Given the description of an element on the screen output the (x, y) to click on. 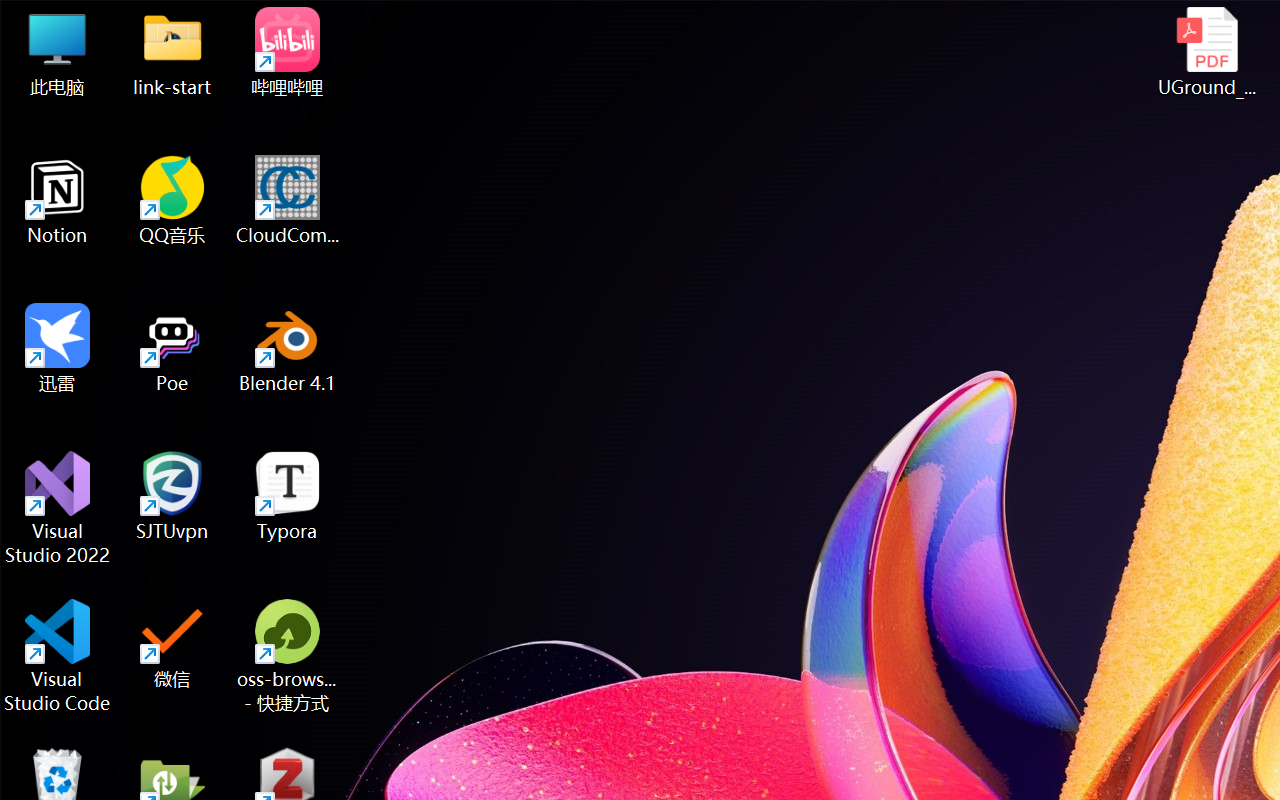
Typora (287, 496)
Blender 4.1 (287, 348)
Visual Studio 2022 (57, 508)
CloudCompare (287, 200)
SJTUvpn (172, 496)
Visual Studio Code (57, 656)
UGround_paper.pdf (1206, 52)
